Given the description of an element on the screen output the (x, y) to click on. 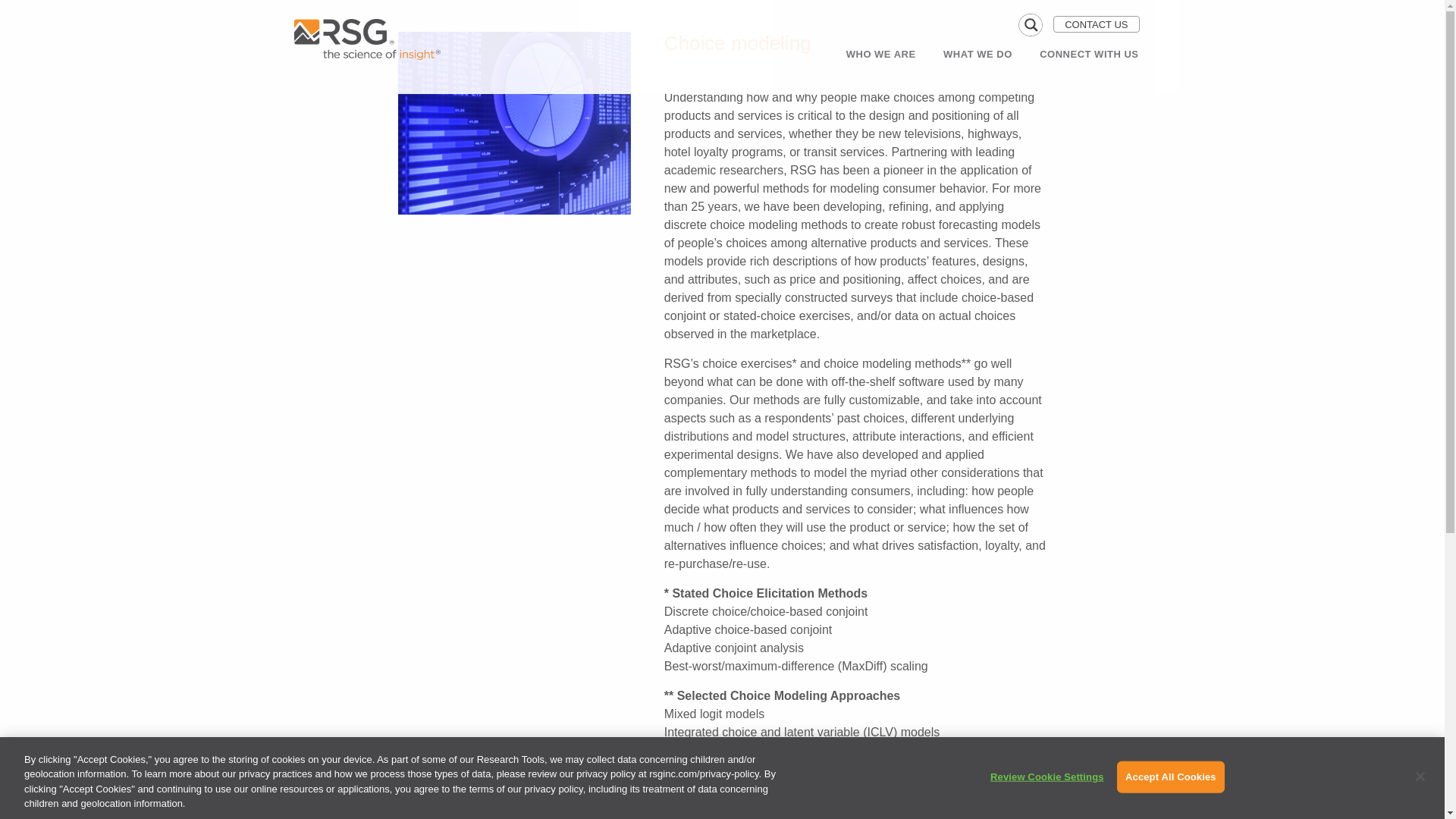
CONTACT US (1095, 23)
42-25179517 (513, 122)
WHO WE ARE (881, 53)
